Given the description of an element on the screen output the (x, y) to click on. 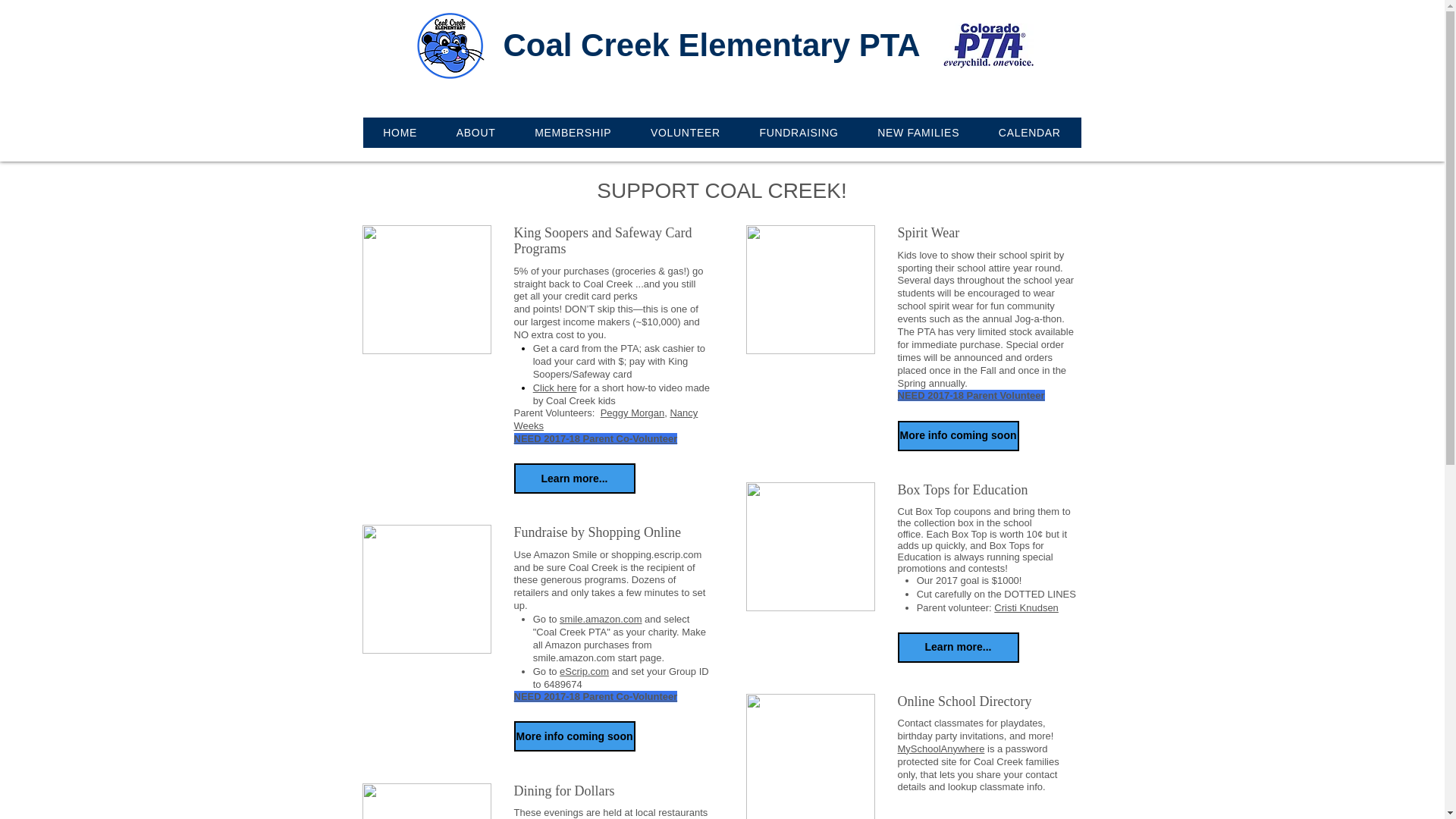
SpiritWear.jpeg (810, 289)
Click here (554, 387)
Nancy Weeks (605, 419)
Online School Directory (989, 701)
FUNDRAISING (799, 132)
CALENDAR (1029, 132)
ABOUT (475, 132)
HOME (400, 132)
NEW FAMILIES (917, 132)
MSA.jpeg (810, 756)
